Given the description of an element on the screen output the (x, y) to click on. 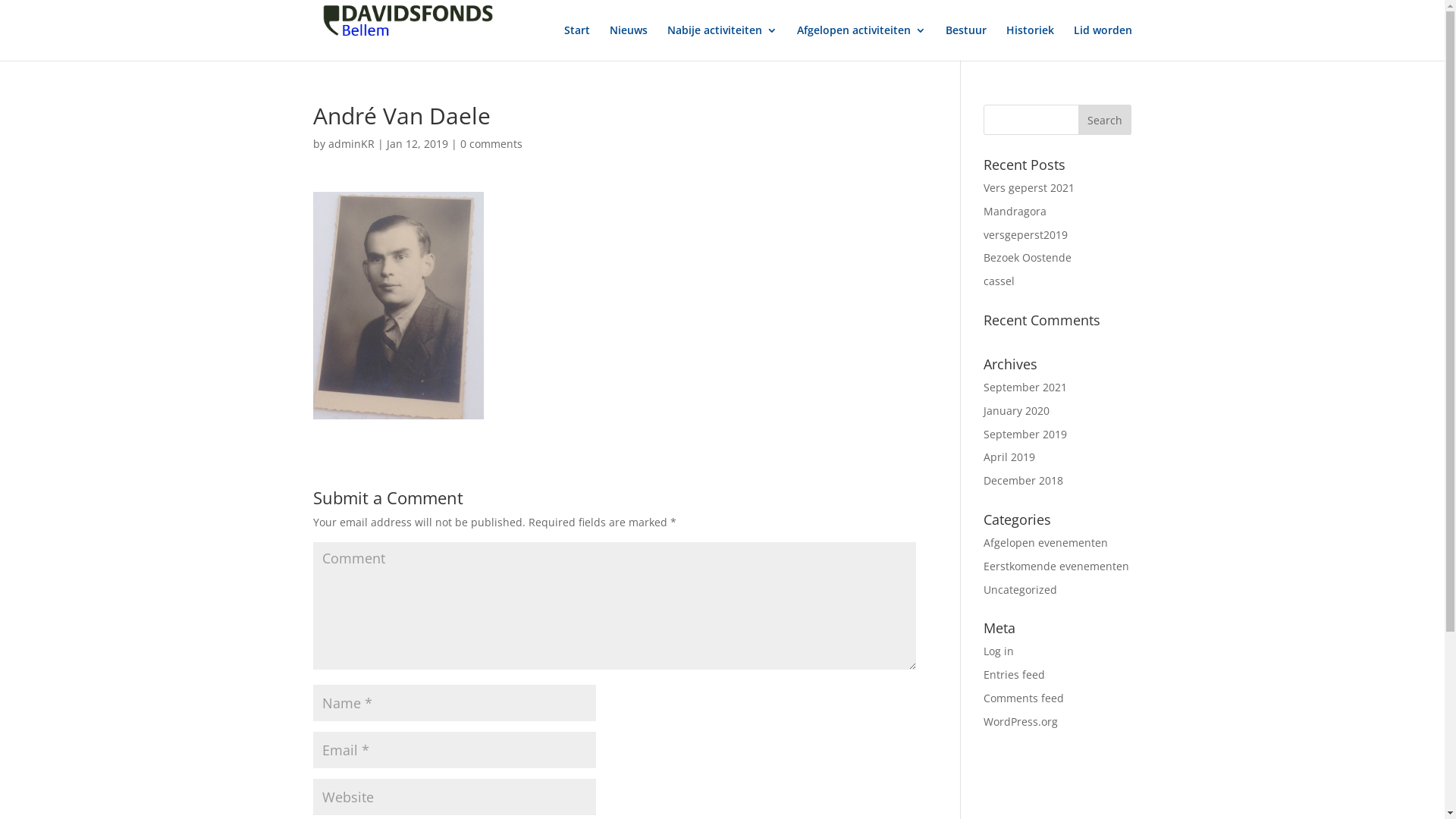
Bezoek Oostende Element type: text (1027, 257)
Lid worden Element type: text (1102, 42)
cassel Element type: text (998, 280)
Comments feed Element type: text (1023, 697)
April 2019 Element type: text (1009, 456)
Search Element type: text (1104, 119)
Vers geperst 2021 Element type: text (1028, 187)
September 2019 Element type: text (1024, 433)
Nieuws Element type: text (628, 42)
WordPress.org Element type: text (1020, 721)
December 2018 Element type: text (1023, 480)
Bestuur Element type: text (964, 42)
Eerstkomende evenementen Element type: text (1056, 565)
September 2021 Element type: text (1024, 386)
Entries feed Element type: text (1013, 674)
Start Element type: text (576, 42)
adminKR Element type: text (350, 143)
Afgelopen activiteiten Element type: text (860, 42)
0 comments Element type: text (490, 143)
Historiek Element type: text (1029, 42)
Log in Element type: text (998, 650)
versgeperst2019 Element type: text (1025, 234)
January 2020 Element type: text (1016, 410)
Nabije activiteiten Element type: text (722, 42)
Afgelopen evenementen Element type: text (1045, 542)
Uncategorized Element type: text (1020, 589)
Mandragora Element type: text (1014, 210)
